Given the description of an element on the screen output the (x, y) to click on. 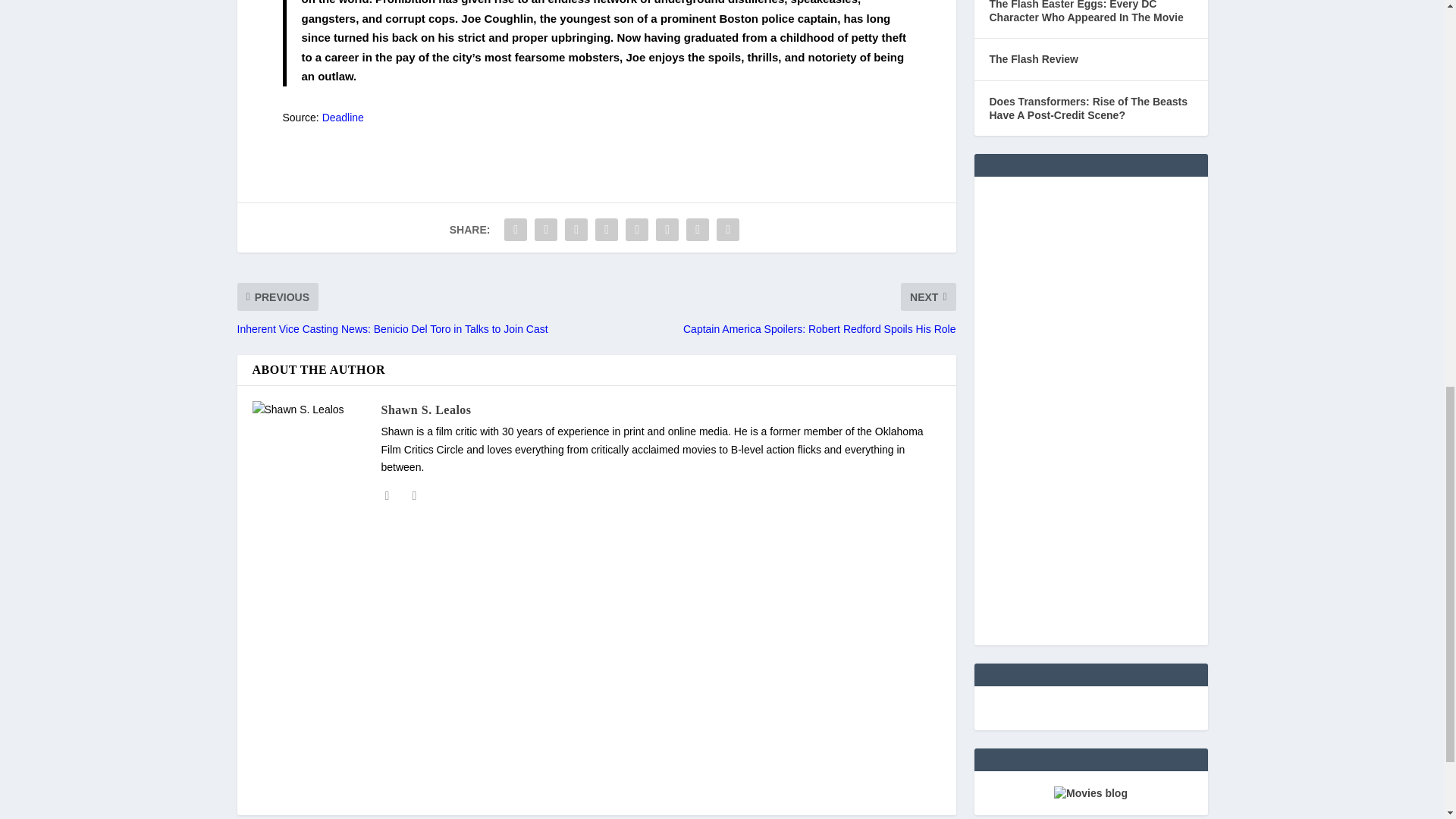
View all posts by Shawn S. Lealos (425, 409)
Movies blog (1090, 793)
